Given the description of an element on the screen output the (x, y) to click on. 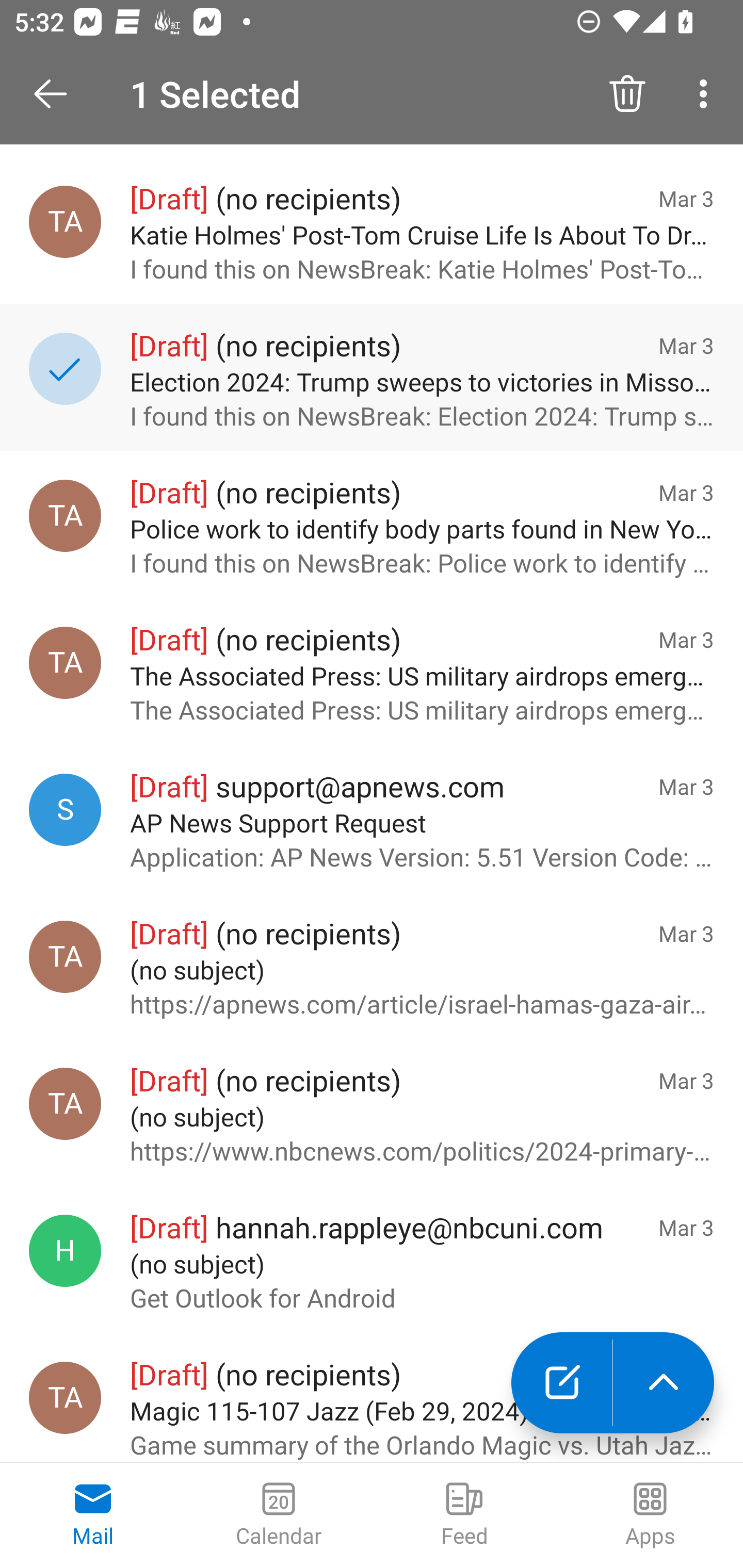
Delete (626, 93)
More options (706, 93)
Open Navigation Drawer (57, 94)
Test Appium, testappium002@outlook.com (64, 221)
Test Appium, testappium002@outlook.com (64, 515)
Test Appium, testappium002@outlook.com (64, 663)
support@apnews.com (64, 809)
Test Appium, testappium002@outlook.com (64, 956)
Test Appium, testappium002@outlook.com (64, 1103)
hannah.rappleye@nbcuni.com (64, 1251)
New mail (561, 1382)
launch the extended action menu (663, 1382)
Test Appium, testappium002@outlook.com (64, 1397)
Calendar (278, 1515)
Feed (464, 1515)
Apps (650, 1515)
